Given the description of an element on the screen output the (x, y) to click on. 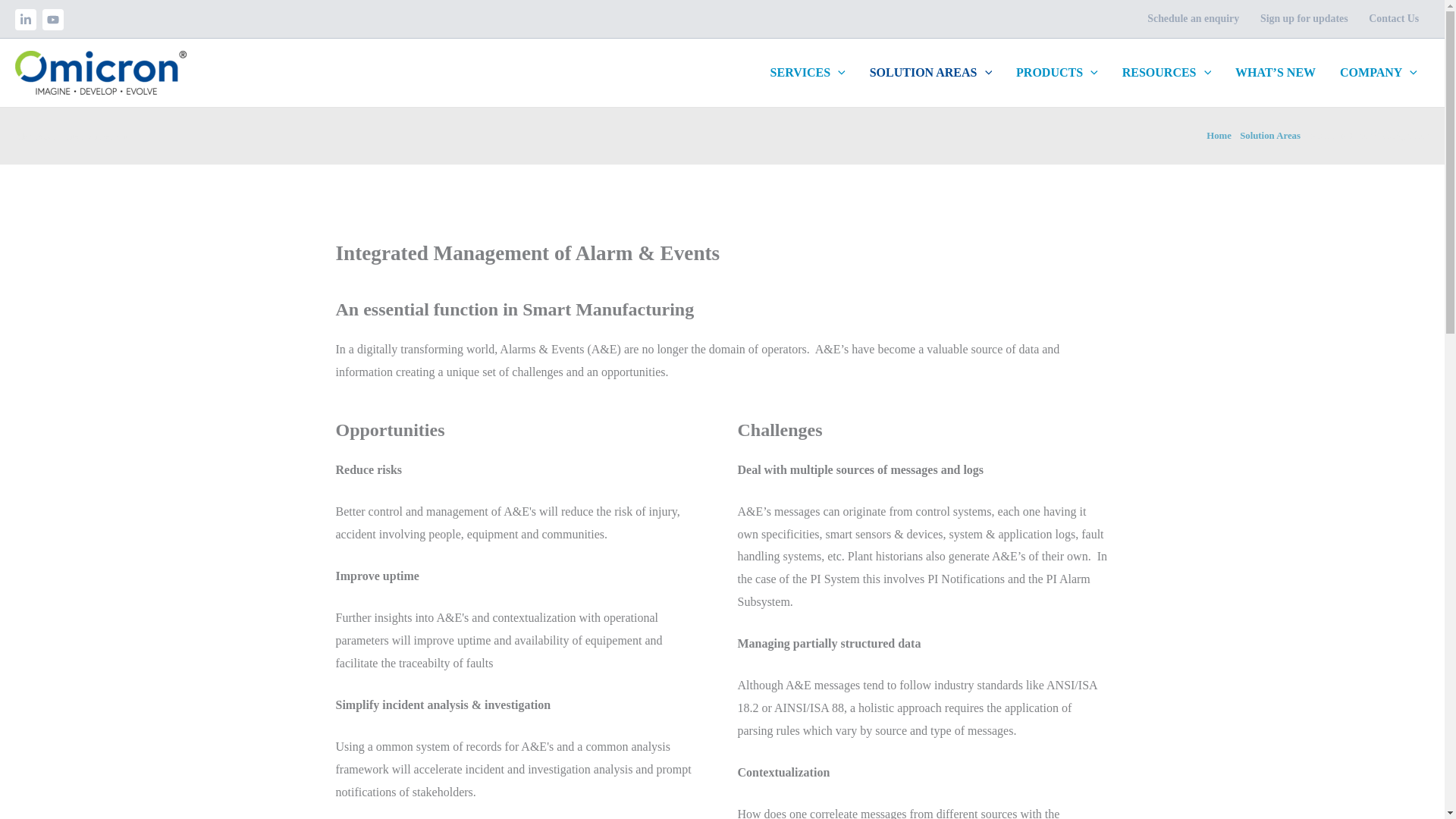
Sign up for updates (1303, 18)
SERVICES (807, 72)
Contact Us (1393, 18)
SOLUTION AREAS (930, 72)
PRODUCTS (1056, 72)
Schedule an enquiry (1193, 18)
RESOURCES (1166, 72)
